Given the description of an element on the screen output the (x, y) to click on. 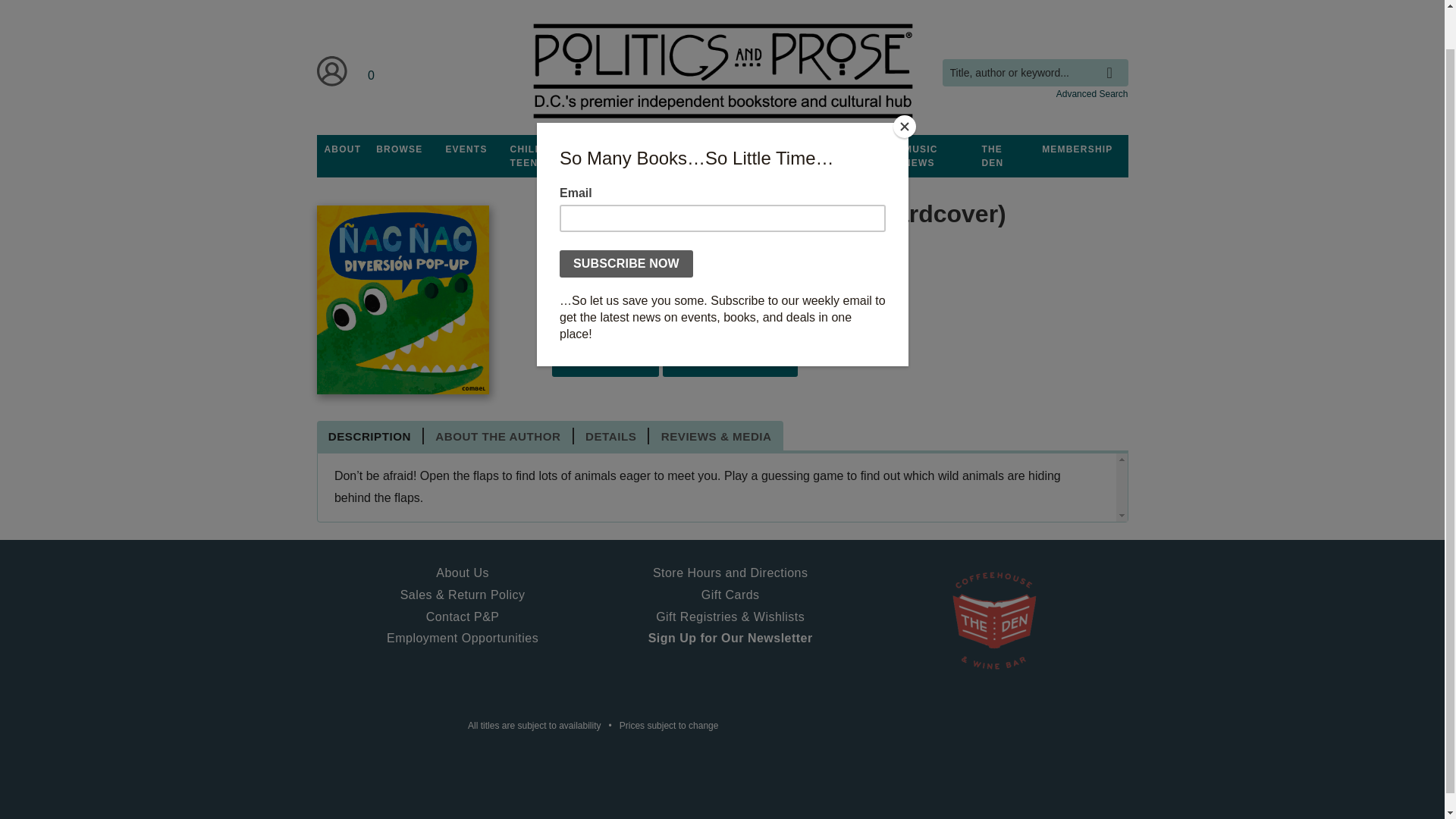
Advanced Search (1092, 93)
Browse our shelves (398, 149)
SUBSCRIPTIONS (722, 149)
Add to Wish List (729, 361)
search (1112, 60)
BROWSE (398, 149)
Title, author or keyword... (1034, 72)
PROGRAMS (633, 149)
Add to Cart (605, 361)
SERVICES (808, 149)
